Given the description of an element on the screen output the (x, y) to click on. 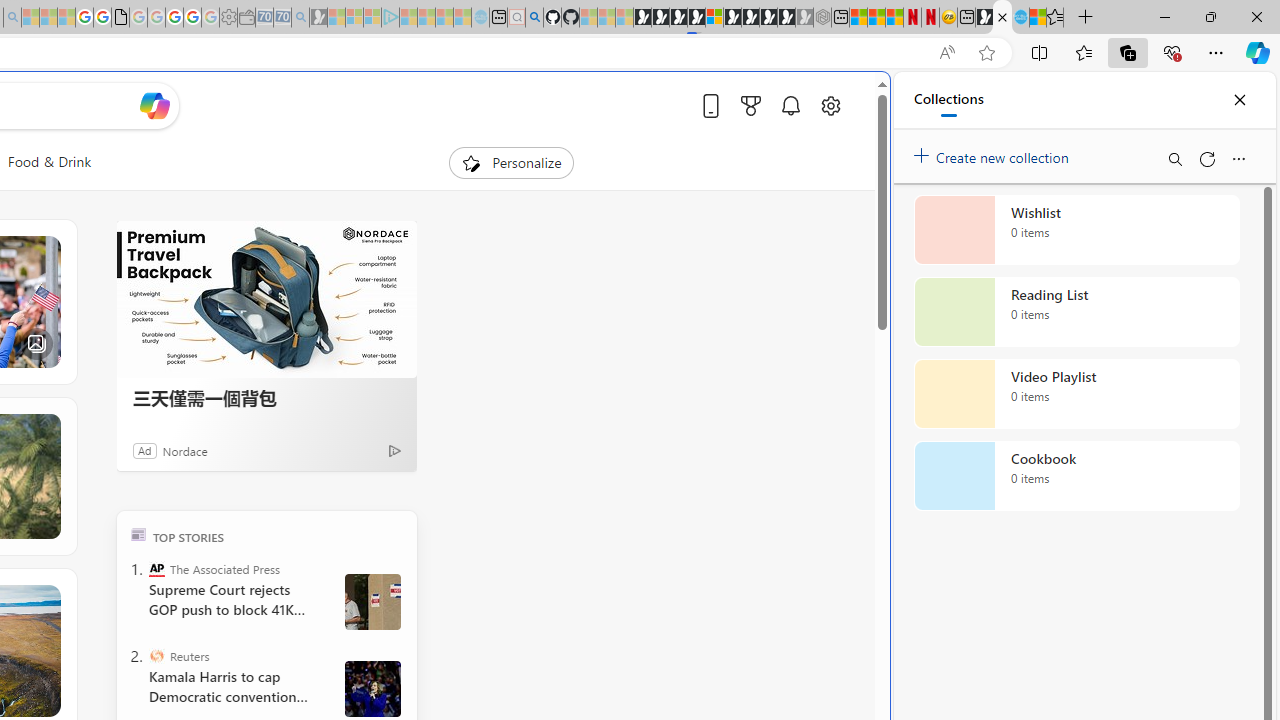
github - Search (534, 17)
Create new collection (994, 153)
